Given the description of an element on the screen output the (x, y) to click on. 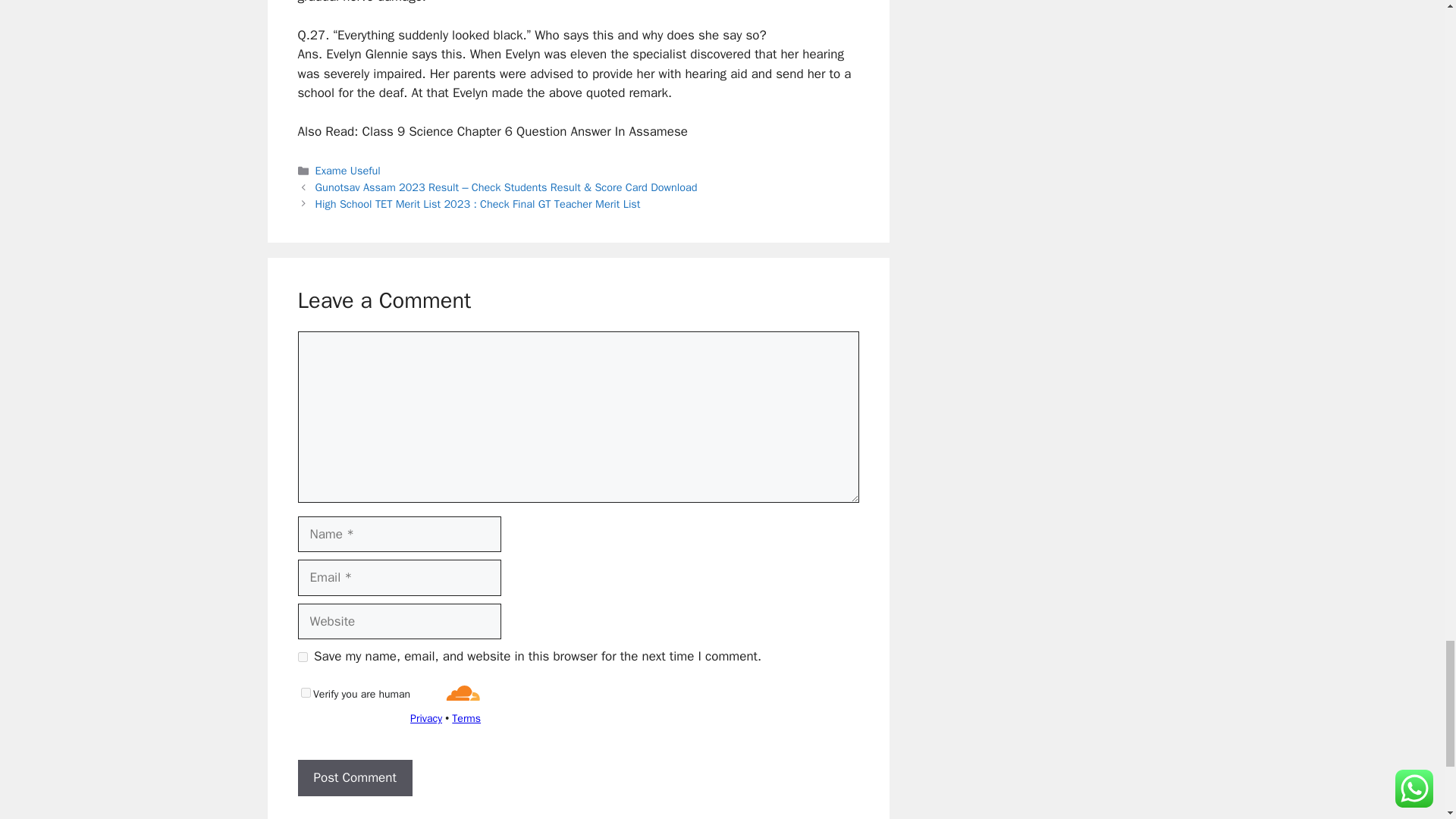
yes (302, 656)
Post Comment (354, 778)
Exame Useful (347, 170)
Post Comment (354, 778)
